Given the description of an element on the screen output the (x, y) to click on. 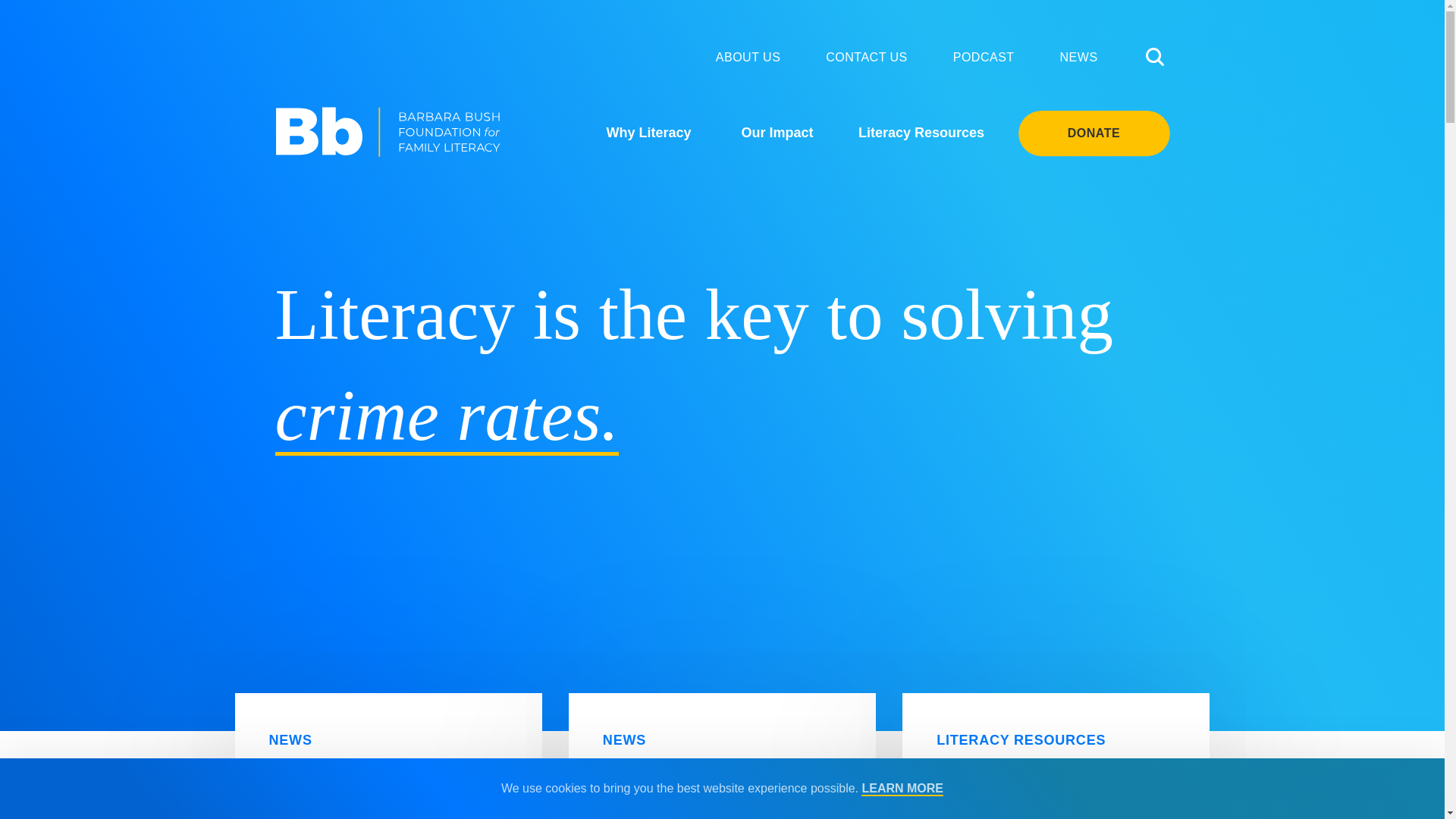
LEARN MORE (902, 789)
NEWS (1078, 56)
Literacy Resources (921, 132)
CONTACT US (866, 56)
Why Literacy (648, 132)
ABOUT US (748, 56)
DONATE (1093, 133)
Our Impact (776, 132)
PODCAST (983, 56)
Find a Literacy Program (1055, 777)
